Given the description of an element on the screen output the (x, y) to click on. 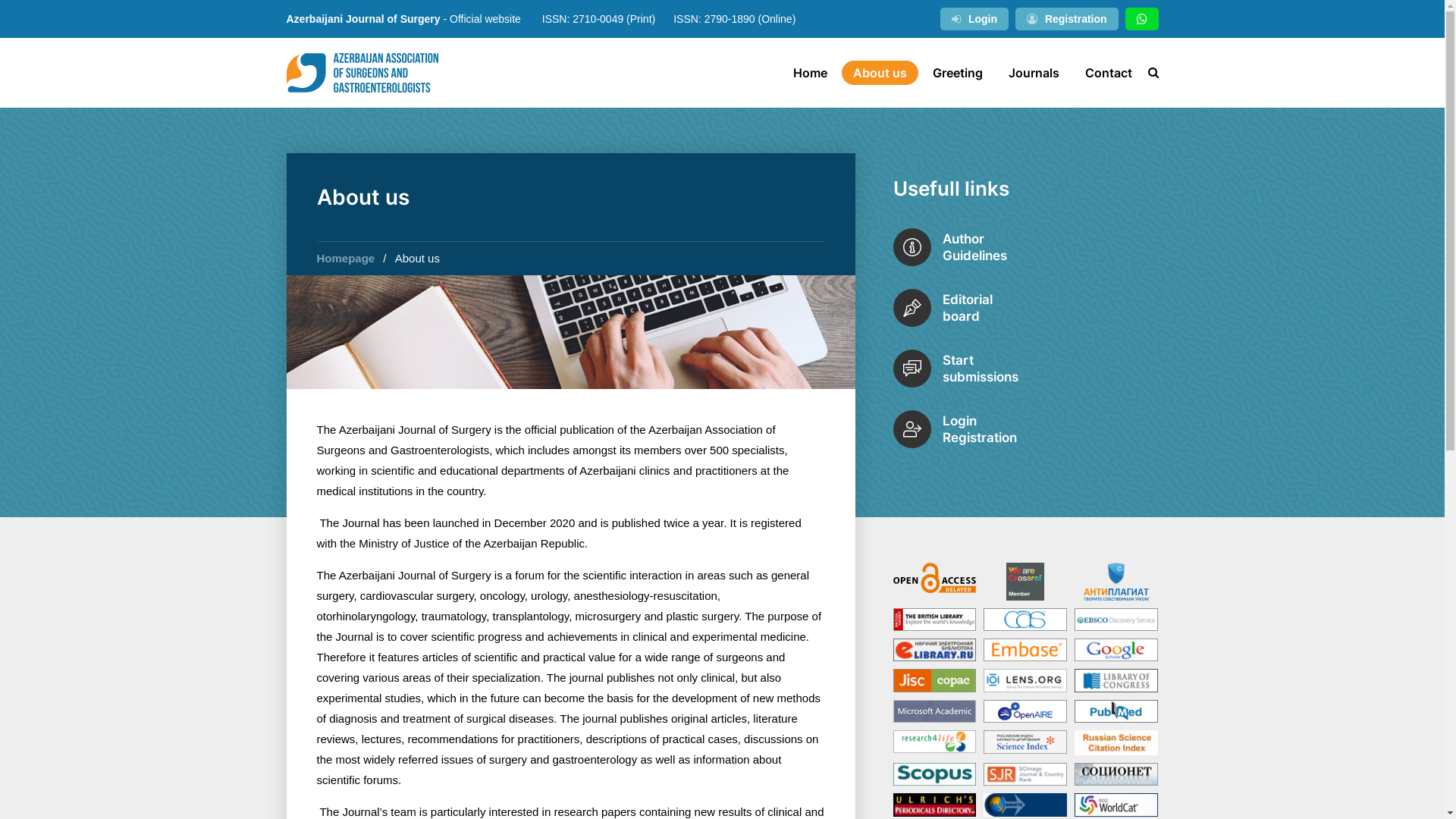
Journals Element type: text (1033, 72)
Registration Element type: text (1066, 18)
Start
submissions Element type: text (1025, 368)
Homepage Element type: text (345, 257)
Login Element type: text (974, 18)
Login
Registration Element type: text (1025, 429)
Home Element type: text (809, 72)
Contact Element type: text (1108, 72)
Author
Guidelines Element type: text (1025, 247)
About us Element type: text (879, 72)
Greeting Element type: text (956, 72)
Editorial
board Element type: text (1025, 307)
